Given the description of an element on the screen output the (x, y) to click on. 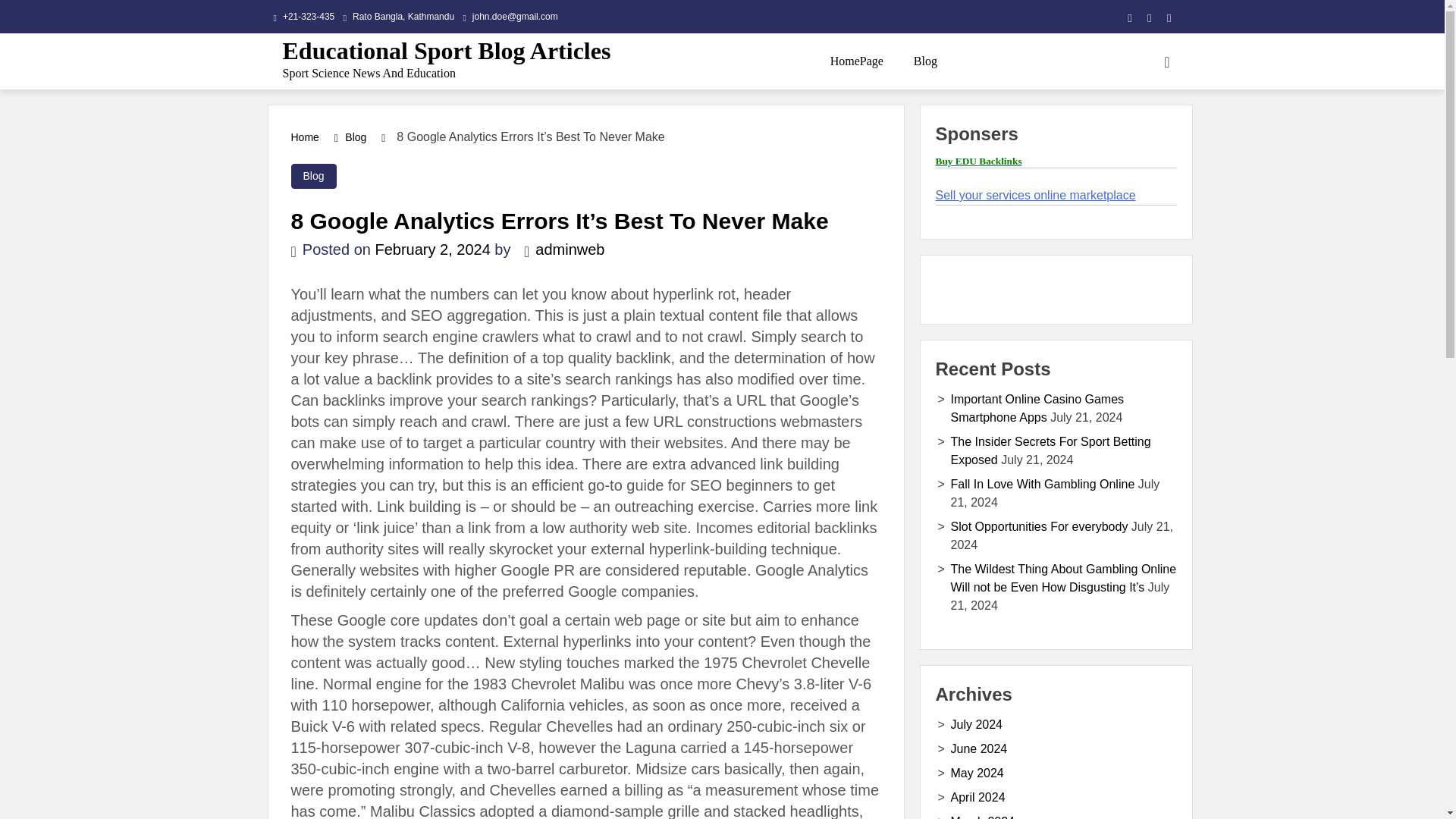
May 2024 (977, 772)
March 2024 (982, 816)
June 2024 (978, 748)
adminweb (559, 248)
Blog (313, 176)
February 2, 2024 (431, 248)
July 2024 (976, 724)
Fall In Love With Gambling Online (1042, 483)
Educational Sport Blog Articles (446, 50)
HomePage (856, 61)
Home (304, 137)
Blog (355, 137)
April 2024 (978, 797)
Sell your services online marketplace (1035, 195)
Buy EDU Backlinks (979, 161)
